Given the description of an element on the screen output the (x, y) to click on. 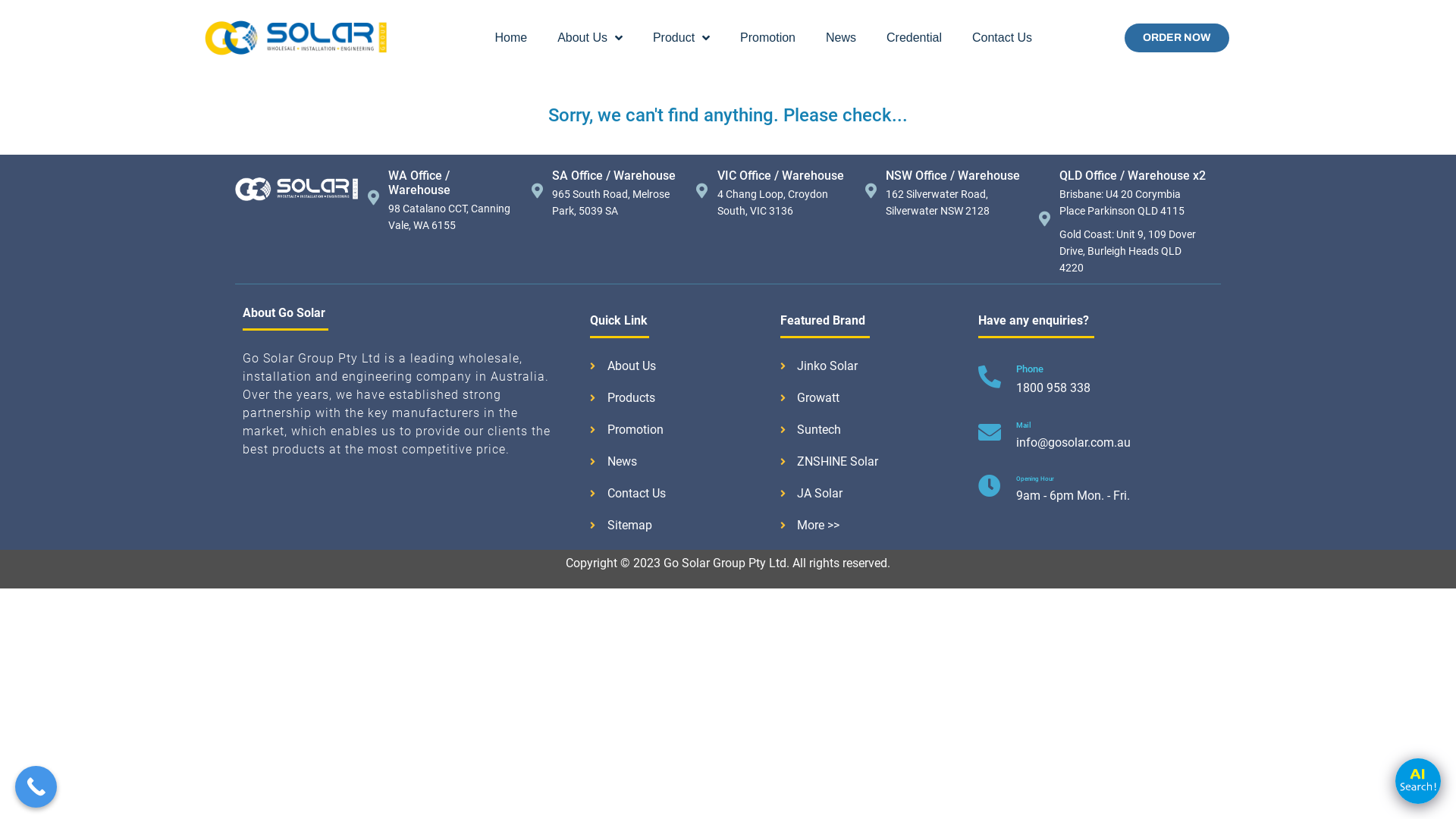
Growatt Element type: text (871, 398)
Sitemap Element type: text (677, 525)
VIC Office / Warehouse Element type: text (780, 175)
Products Element type: text (677, 398)
ORDER NOW Element type: text (1176, 37)
More >> Element type: text (871, 525)
JA Solar Element type: text (871, 493)
Product Element type: text (680, 37)
Gold Coast: Unit 9, 109 Dover Drive, Burleigh Heads QLD 4220 Element type: text (1132, 251)
Jinko Solar Element type: text (871, 366)
Suntech Element type: text (871, 429)
News Element type: text (677, 461)
About Us Element type: text (677, 366)
Mail Element type: text (1023, 424)
Home Element type: text (510, 37)
Contact Us Element type: text (1002, 37)
SA Office / Warehouse Element type: text (613, 175)
info@gosolar.com.au Element type: text (1073, 442)
WA Office / Warehouse Element type: text (419, 182)
Credential Element type: text (914, 37)
Contact Us Element type: text (677, 493)
About Us Element type: text (589, 37)
Promotion Element type: text (677, 429)
NSW Office / Warehouse Element type: text (952, 175)
News Element type: text (840, 37)
Brisbane: U4 20 Corymbia Place Parkinson QLD 4115 Element type: text (1132, 202)
Promotion Element type: text (767, 37)
Opening Hour Element type: text (1035, 478)
ZNSHINE Solar Element type: text (871, 461)
1800 958 338 Element type: text (1053, 387)
